Given the description of an element on the screen output the (x, y) to click on. 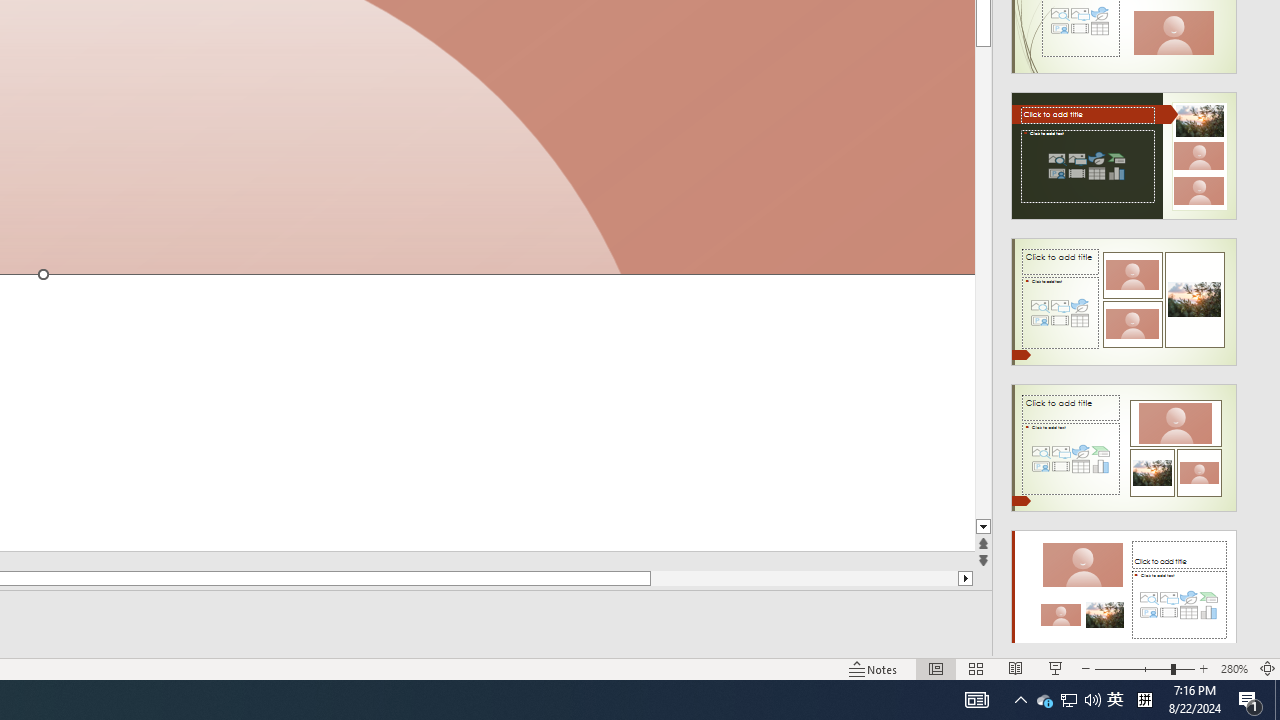
Zoom 280% (1234, 668)
Design Idea (1124, 587)
